Given the description of an element on the screen output the (x, y) to click on. 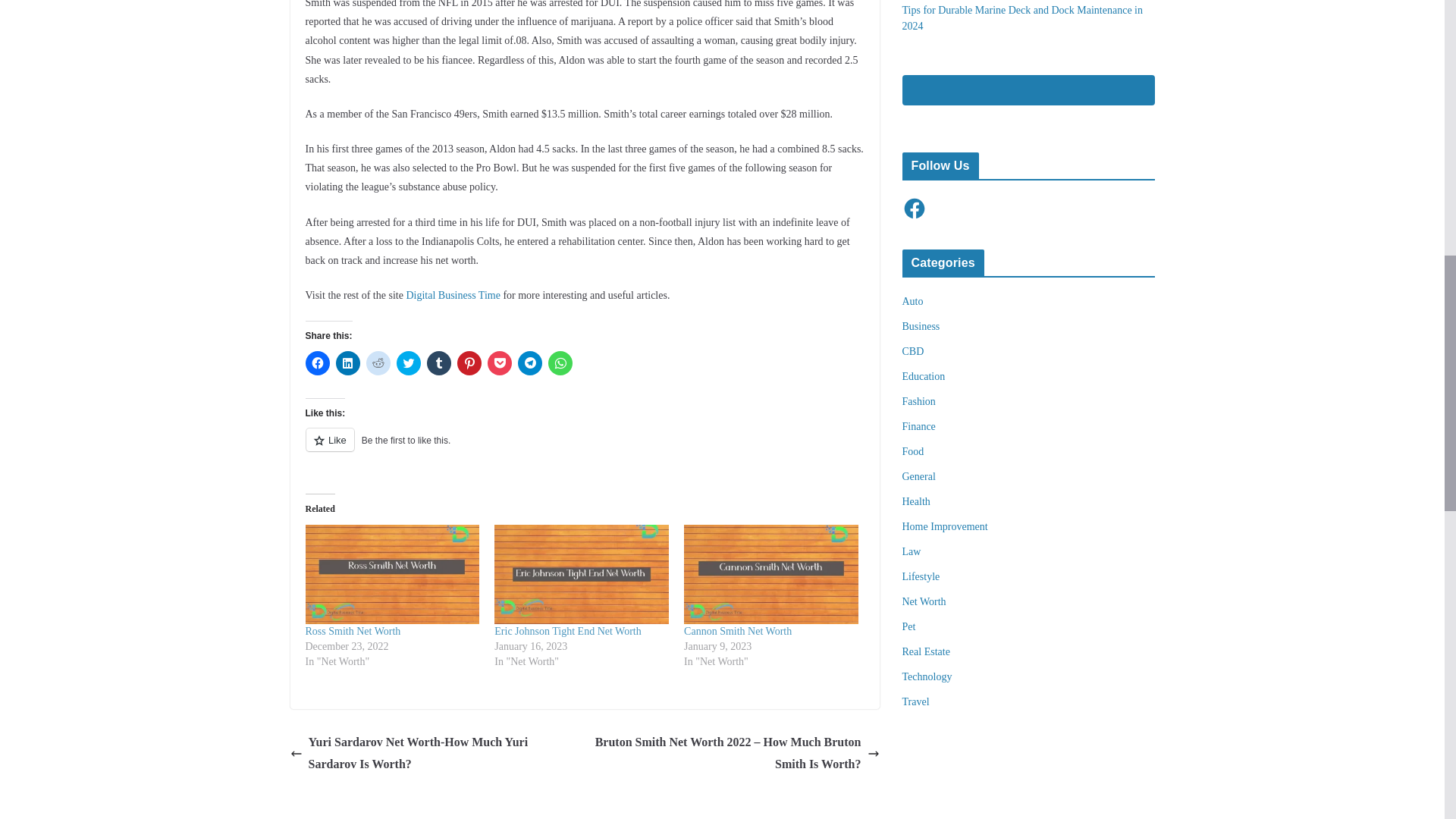
Ross Smith Net Worth (391, 574)
Like or Reblog (583, 448)
Click to share on Tumblr (437, 363)
Click to share on Facebook (316, 363)
Yuri Sardarov Net Worth-How Much Yuri Sardarov Is Worth? (432, 753)
Ross Smith Net Worth (352, 631)
Click to share on Telegram (528, 363)
Eric Johnson Tight End Net Worth (567, 631)
Click to share on Pinterest (468, 363)
Ross Smith Net Worth (352, 631)
Eric Johnson Tight End Net Worth (567, 631)
Click to share on Pocket (498, 363)
Click to share on LinkedIn (346, 363)
Digital Business Time (452, 295)
Click to share on Twitter (408, 363)
